Given the description of an element on the screen output the (x, y) to click on. 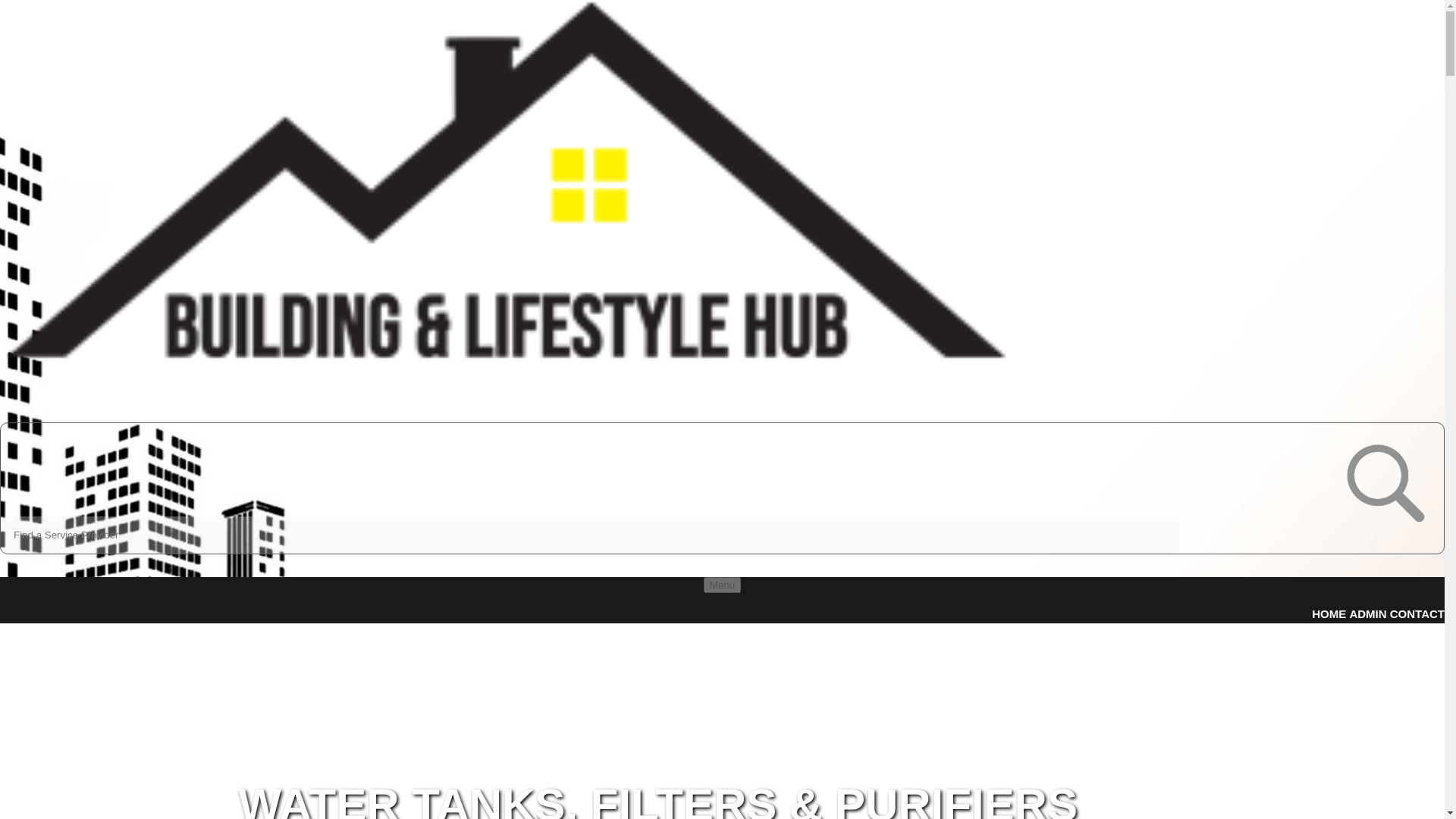
HOME (1328, 613)
ADMIN (1367, 613)
Menu (722, 584)
